Given the description of an element on the screen output the (x, y) to click on. 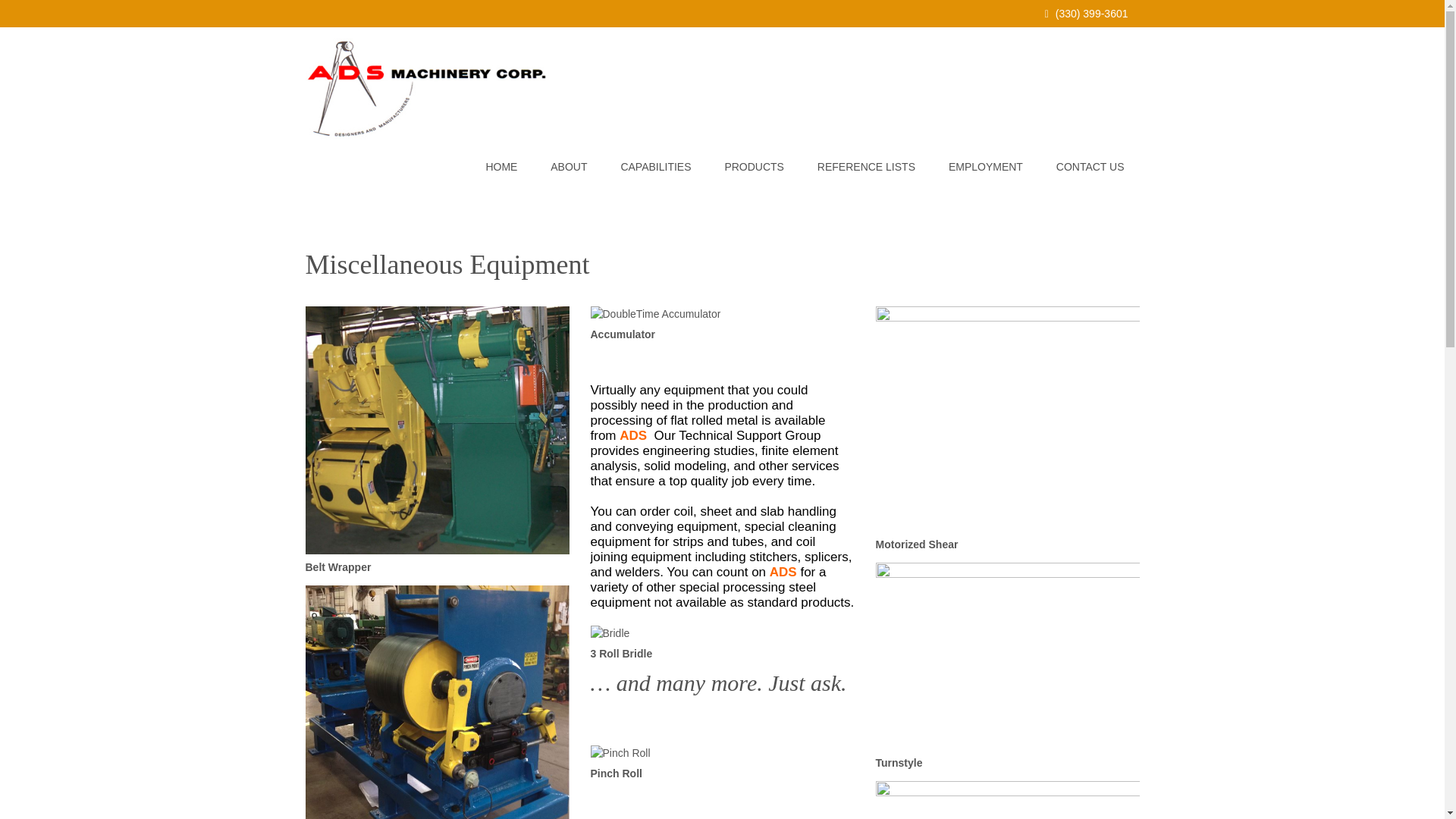
CAPABILITIES (655, 166)
EMPLOYMENT (985, 166)
ABOUT (568, 166)
HOME (501, 166)
CONTACT US (1090, 166)
Top of Page (1401, 778)
REFERENCE LISTS (866, 166)
PRODUCTS (754, 166)
